Given the description of an element on the screen output the (x, y) to click on. 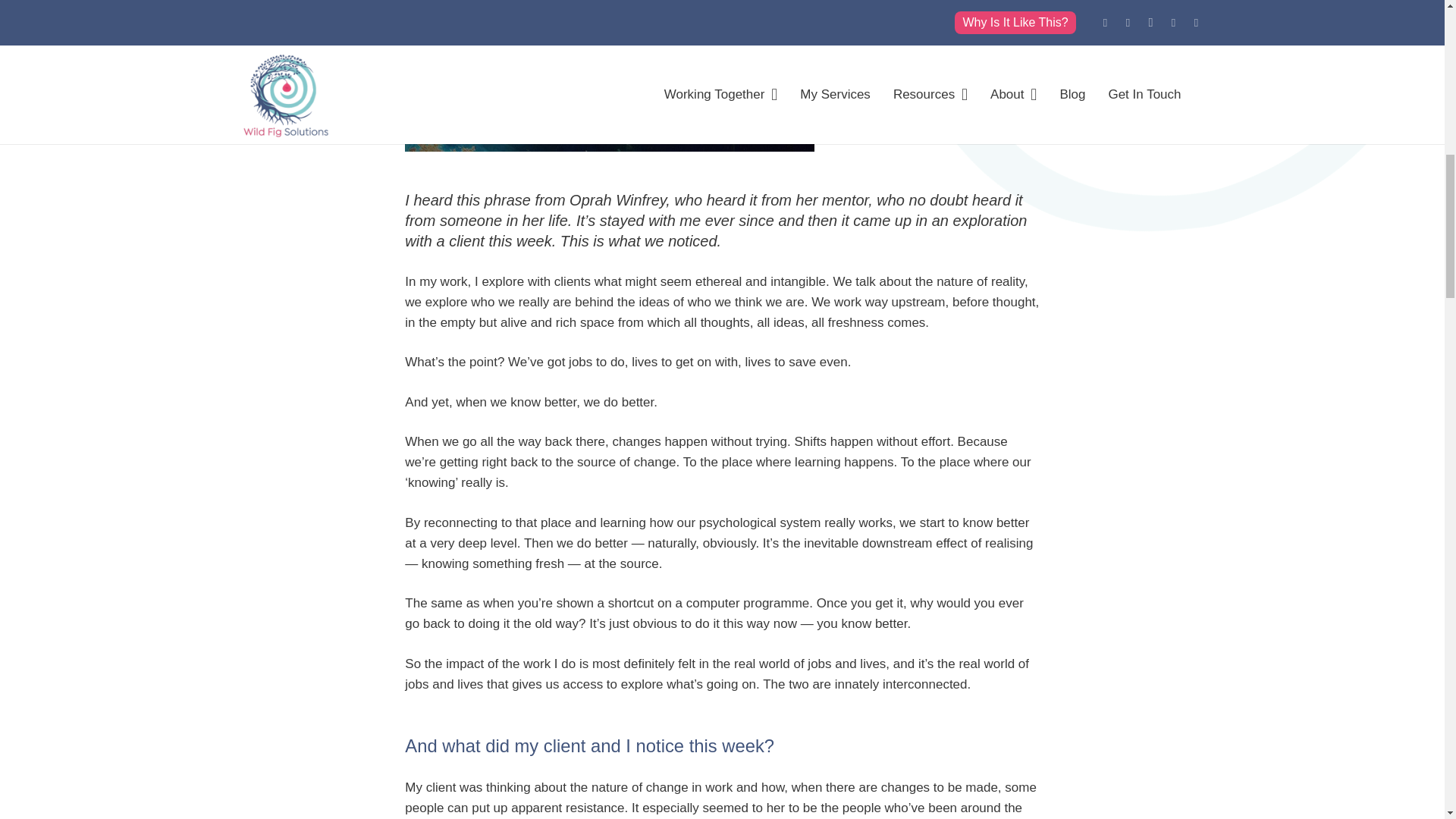
Back to top (1413, 34)
